Given the description of an element on the screen output the (x, y) to click on. 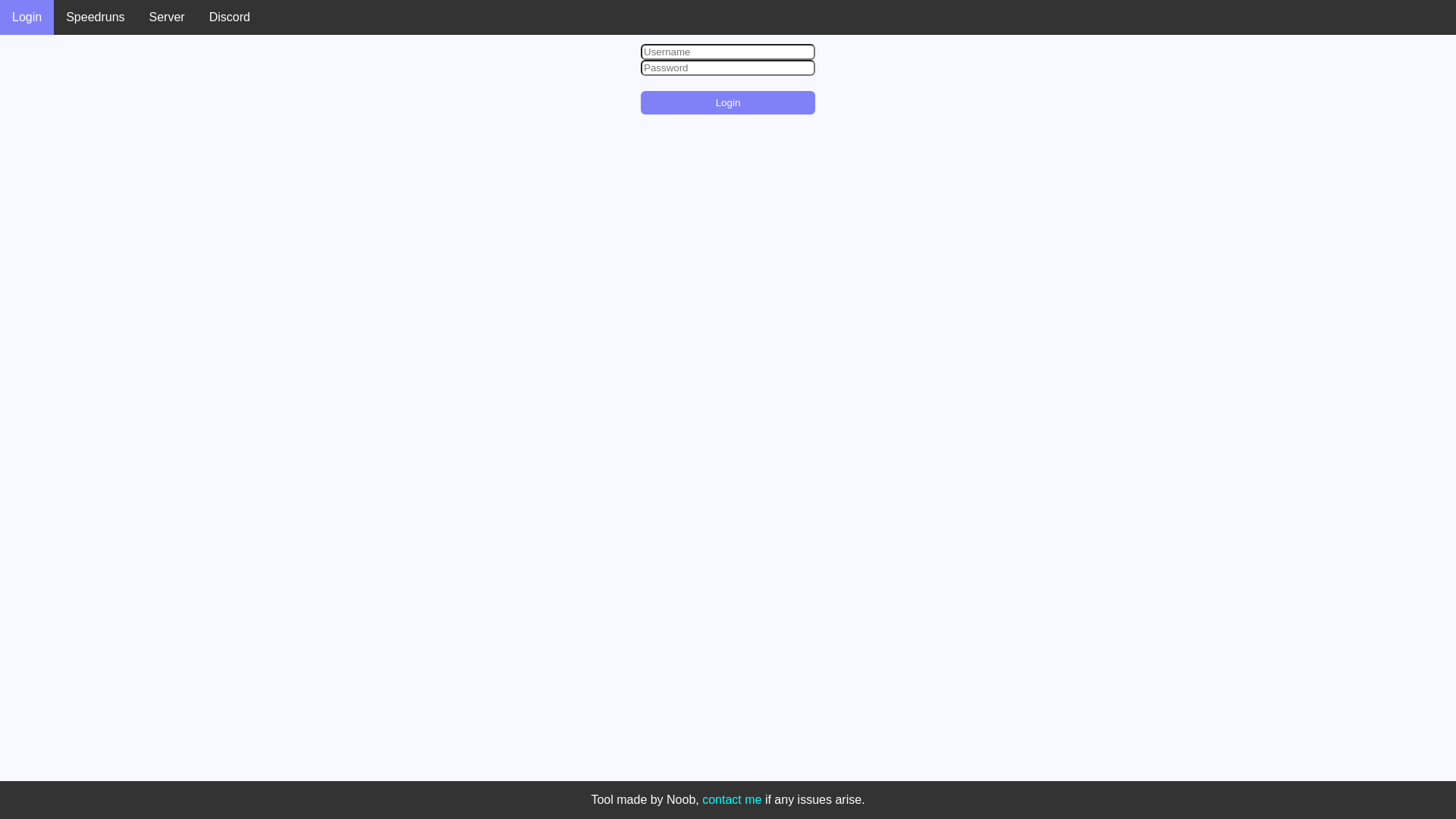
contact me Element type: text (731, 799)
Discord Element type: text (229, 17)
Login Element type: text (727, 102)
Server Element type: text (167, 17)
Speedruns Element type: text (94, 17)
Login Element type: text (26, 17)
